Given the description of an element on the screen output the (x, y) to click on. 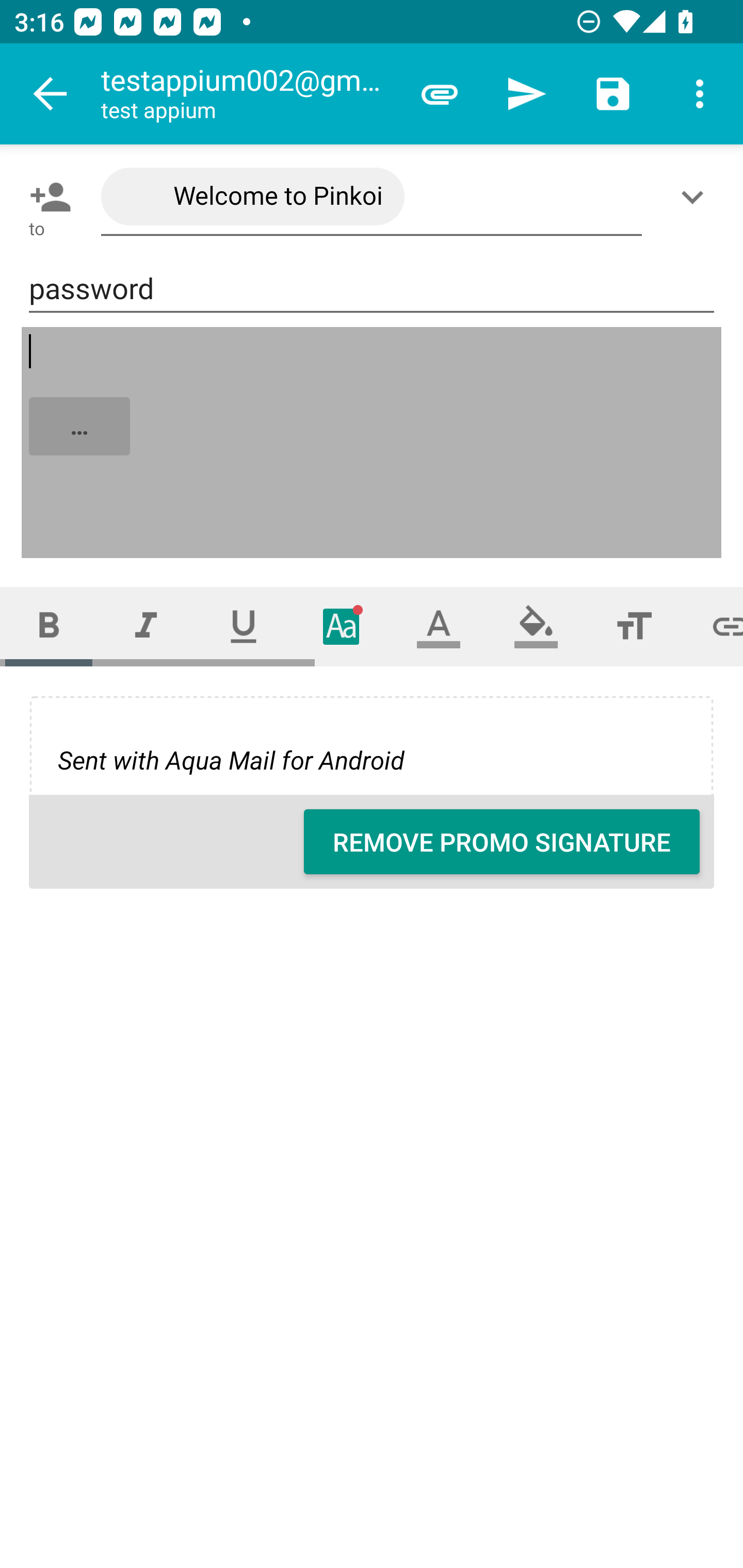
Navigate up (50, 93)
testappium002@gmail.com test appium (248, 93)
Attach (439, 93)
Send (525, 93)
Save (612, 93)
More options (699, 93)
Welcome to Pinkoi <noreply-promo@pinkoi.com>,  (371, 197)
Pick contact: To (46, 196)
Show/Add CC/BCC (696, 196)
password (371, 288)

…
 (372, 442)
Bold (48, 626)
Italic (145, 626)
Underline (243, 626)
Typeface (font) (341, 626)
Text color (438, 626)
Fill color (536, 626)
Font size (633, 626)
REMOVE PROMO SIGNATURE (501, 841)
